Given the description of an element on the screen output the (x, y) to click on. 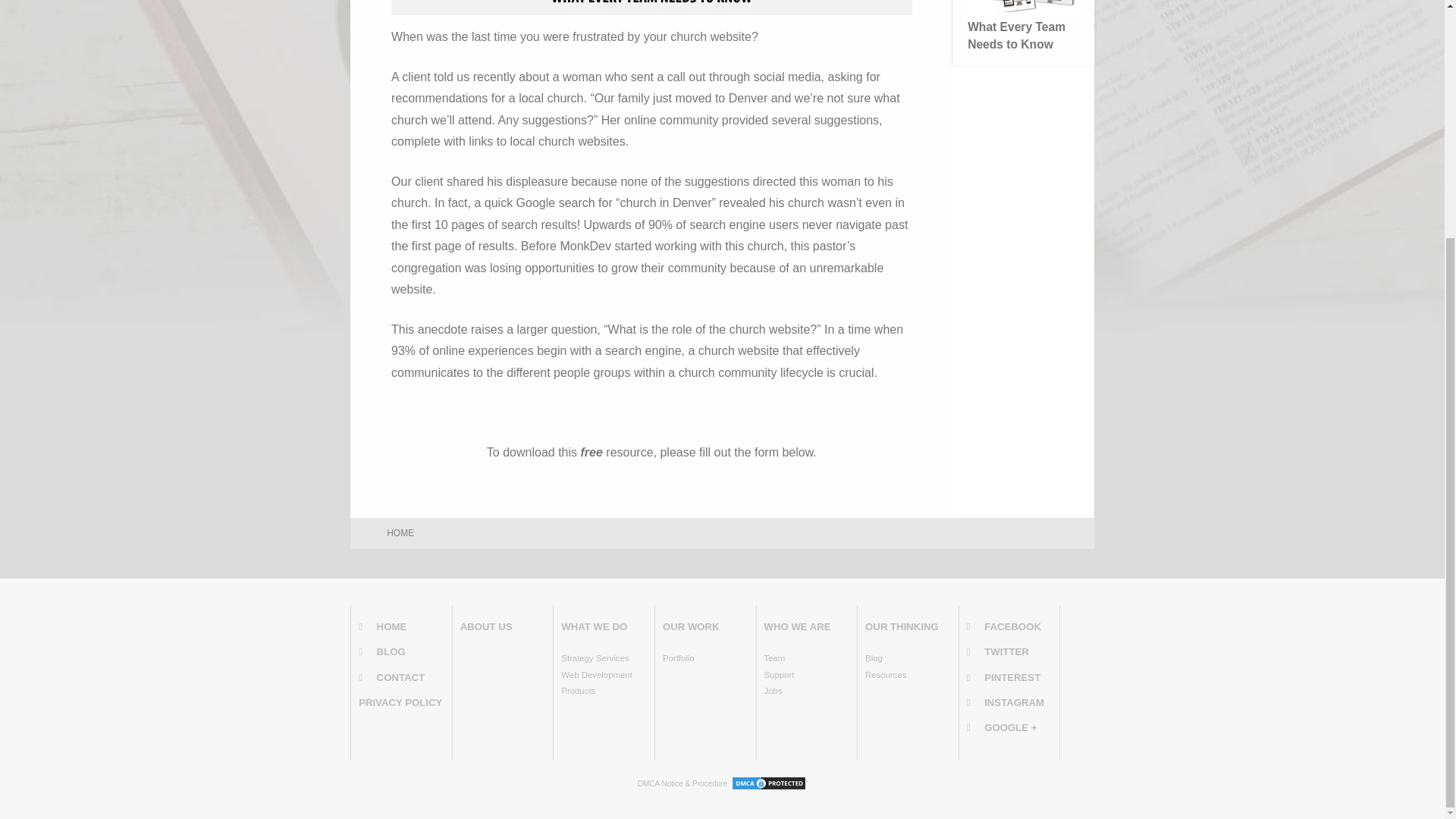
Facebook (1009, 626)
Home (400, 626)
DMCA Notice and Procedure (681, 783)
Pinterest (1009, 677)
Privacy Policy (400, 702)
Instagram (1009, 702)
Twitter (1009, 651)
Contact (400, 677)
DMCA.com Protection Status (768, 783)
Blog (400, 651)
Resource Banner Whitepaper What-Every-Team-Needs-to-Know- (651, 7)
